Given the description of an element on the screen output the (x, y) to click on. 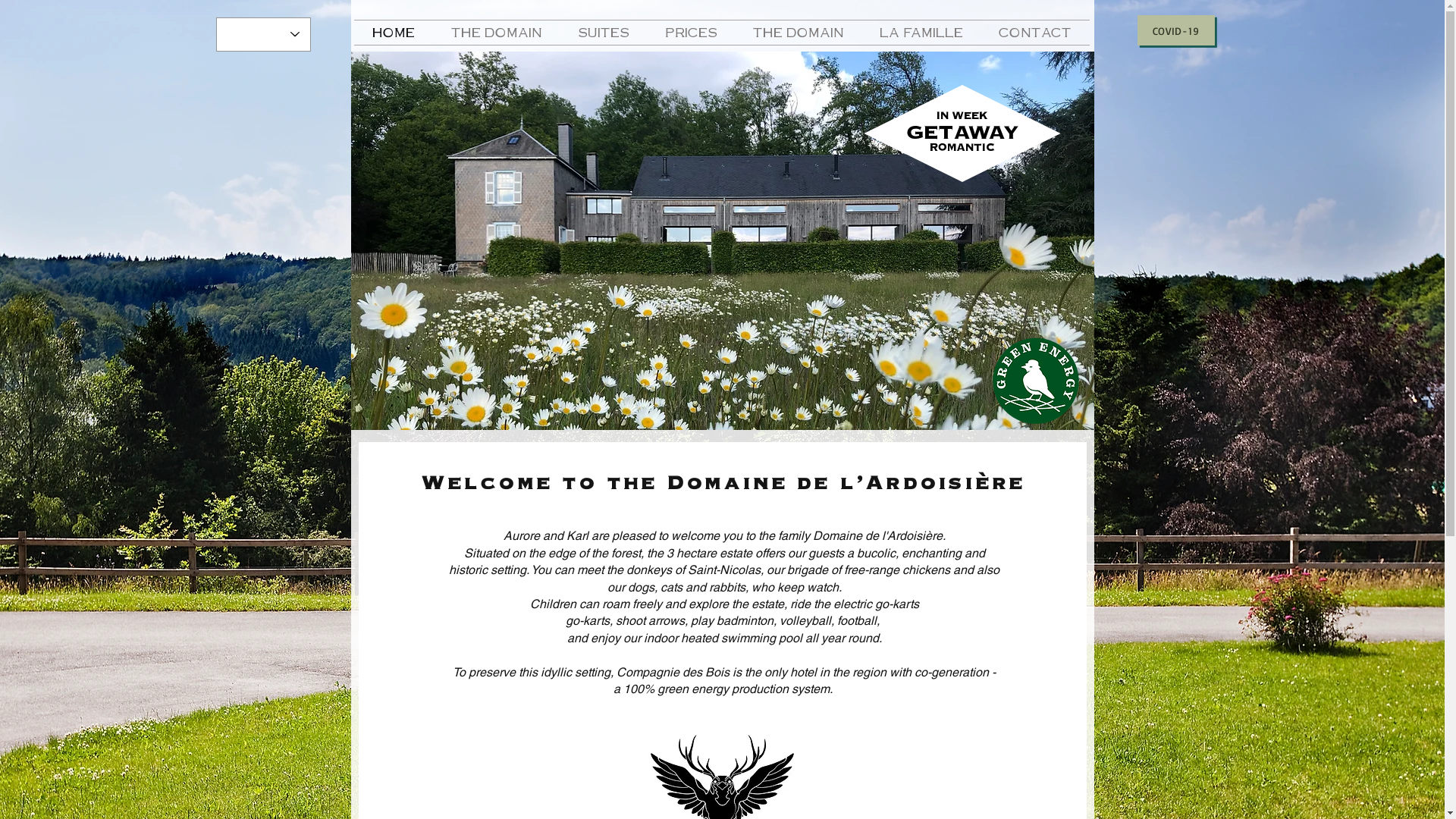
PRICES Element type: text (691, 32)
CONTACT Element type: text (1035, 32)
THE DOMAIN Element type: text (495, 32)
THE DOMAIN Element type: text (798, 32)
HOME Element type: text (392, 32)
COVID-19 Element type: text (1175, 30)
SUITES Element type: text (602, 32)
LA FAMILLE Element type: text (920, 32)
